Given the description of an element on the screen output the (x, y) to click on. 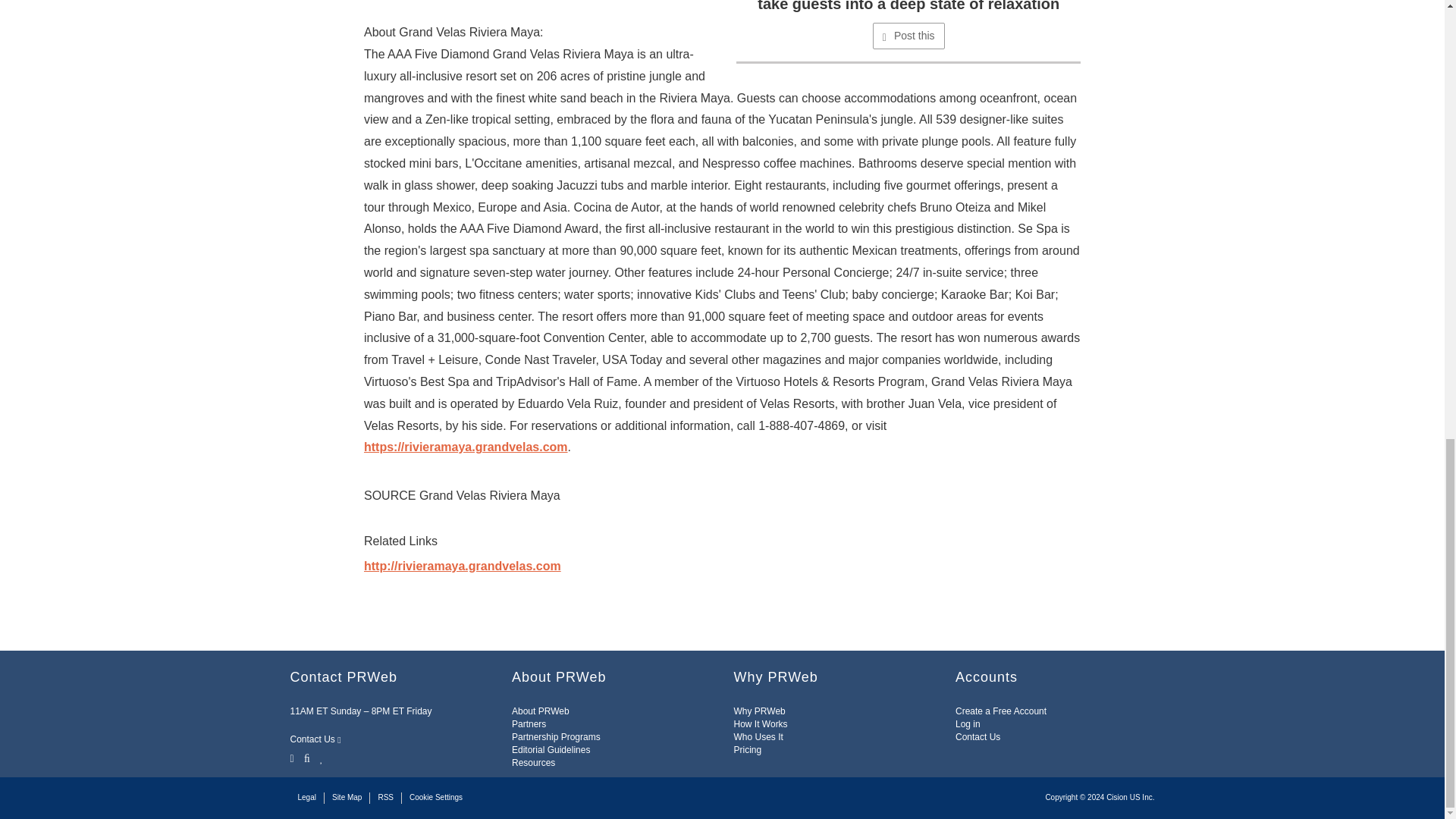
Editorial Guidelines (550, 749)
Resources (533, 762)
About PRWeb (540, 710)
Facebook (306, 757)
How It Works (760, 724)
Partnership Programs (555, 737)
Partners (529, 724)
Why PRWeb (759, 710)
